Given the description of an element on the screen output the (x, y) to click on. 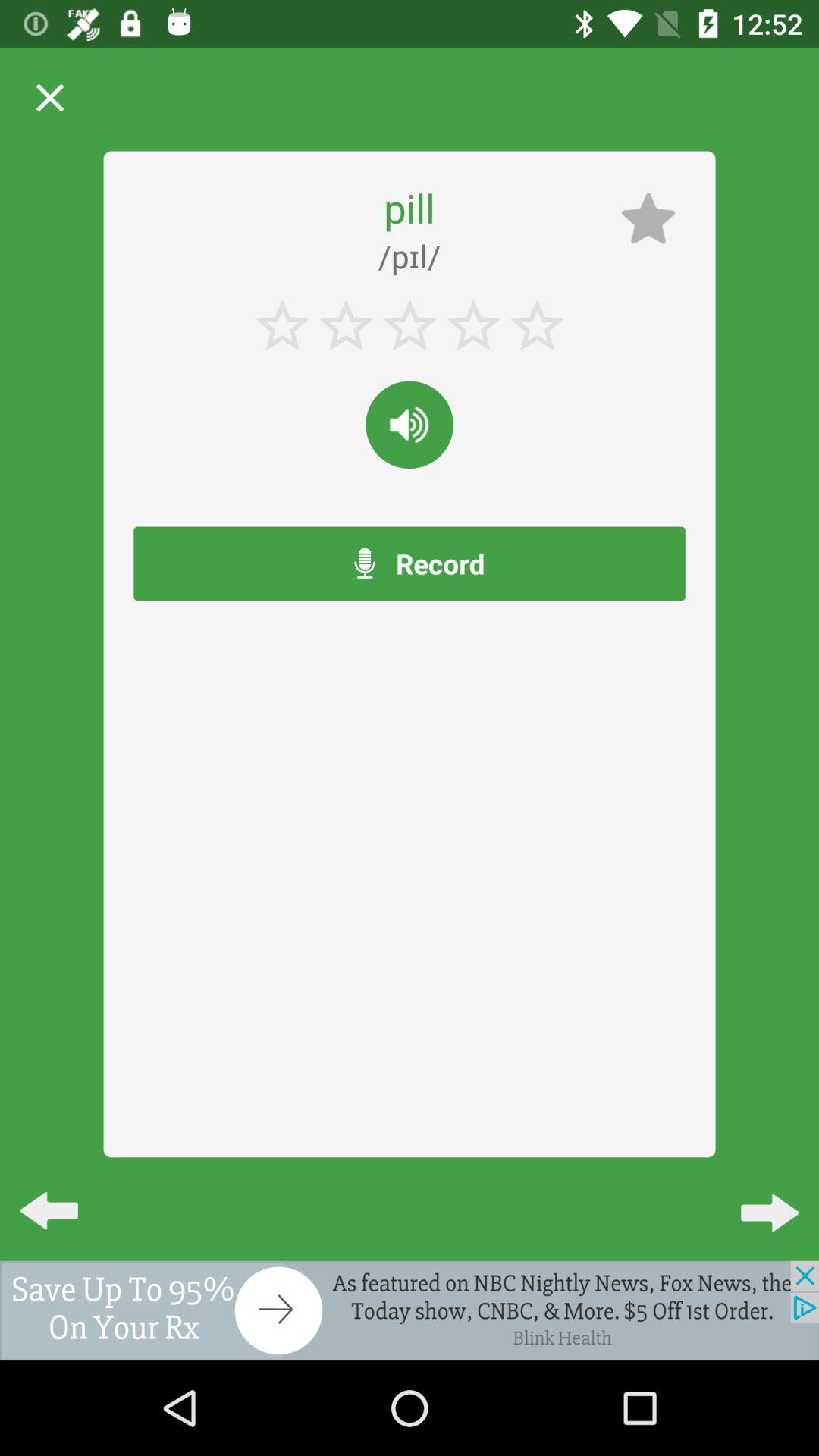
screen button (409, 1310)
